Given the description of an element on the screen output the (x, y) to click on. 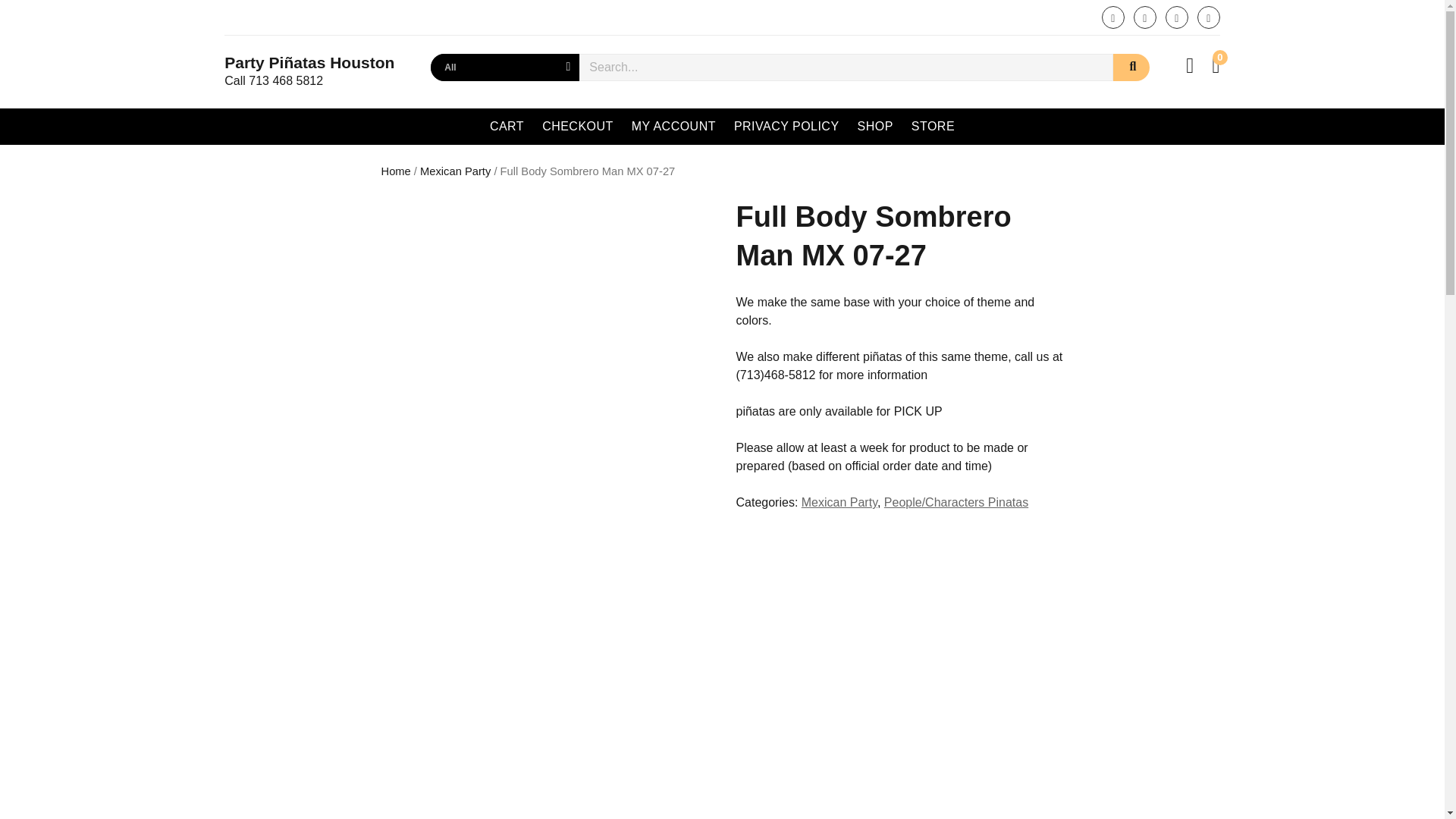
Mexican Party (455, 171)
Search for: (846, 67)
Mexican Party (839, 502)
Search (1131, 67)
SHOP (875, 126)
Search (1131, 67)
Search (1131, 67)
phone (1208, 16)
CHECKOUT (577, 126)
PRIVACY POLICY (786, 126)
STORE (932, 126)
Home (395, 171)
MY ACCOUNT (674, 126)
CART (506, 126)
